Given the description of an element on the screen output the (x, y) to click on. 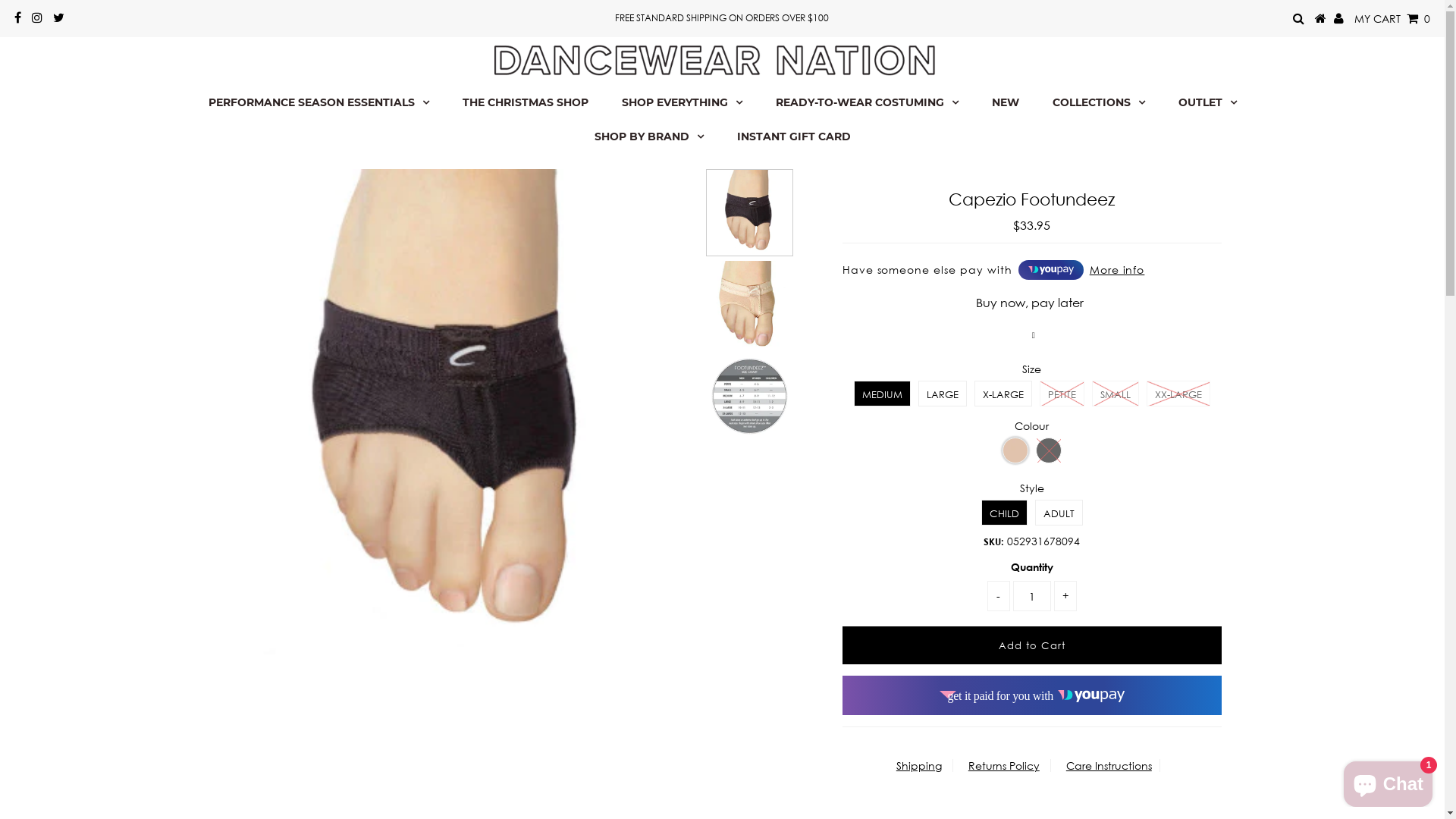
Add to Cart Element type: text (1031, 645)
get it paid for you with Element type: text (1031, 695)
READY-TO-WEAR COSTUMING Element type: text (865, 102)
COLLECTIONS Element type: text (1098, 102)
NEW Element type: text (1005, 102)
OUTLET Element type: text (1207, 102)
INSTANT GIFT CARD Element type: text (793, 136)
SHOP EVERYTHING Element type: text (681, 102)
SHOP BY BRAND Element type: text (648, 136)
+ Element type: text (1065, 595)
- Element type: text (998, 595)
Shipping Element type: text (918, 765)
PERFORMANCE SEASON ESSENTIALS Element type: text (317, 102)
THE CHRISTMAS SHOP Element type: text (525, 102)
Have someone else pay with
More info Element type: text (1031, 269)
Shopify online store chat Element type: hover (1388, 780)
MY CART    0 Element type: text (1392, 18)
Care Instructions Element type: text (1108, 765)
Returns Policy Element type: text (1003, 765)
